Given the description of an element on the screen output the (x, y) to click on. 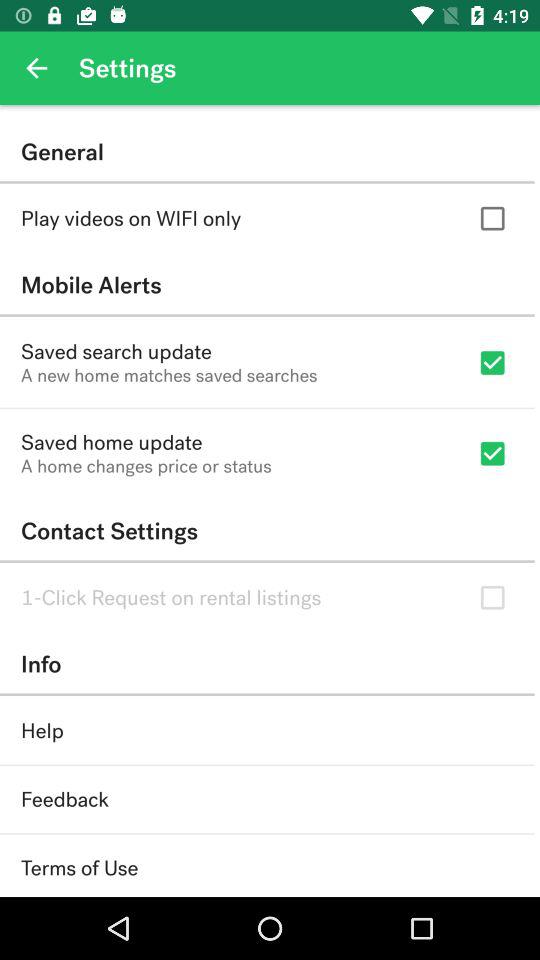
turn on terms of use icon (79, 867)
